Given the description of an element on the screen output the (x, y) to click on. 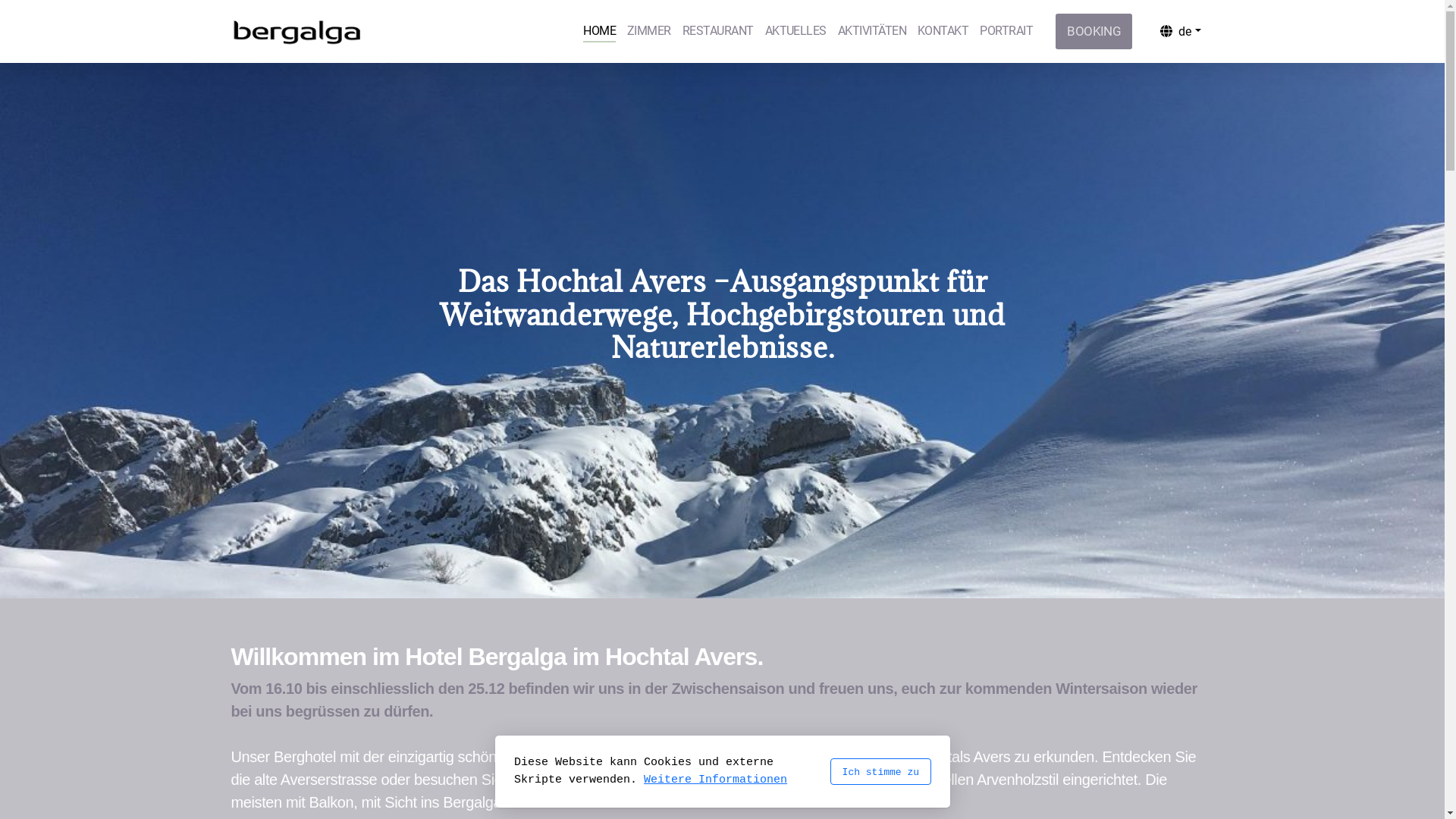
AKTUELLES Element type: text (795, 31)
HOME Element type: text (599, 31)
RESTAURANT Element type: text (717, 31)
Weitere Informationen Element type: text (715, 779)
PORTRAIT Element type: text (1005, 31)
BOOKING Element type: text (1093, 31)
KONTAKT Element type: text (942, 31)
de Element type: text (1180, 30)
Ich stimme zu Element type: text (879, 771)
ZIMMER Element type: text (649, 31)
